Given the description of an element on the screen output the (x, y) to click on. 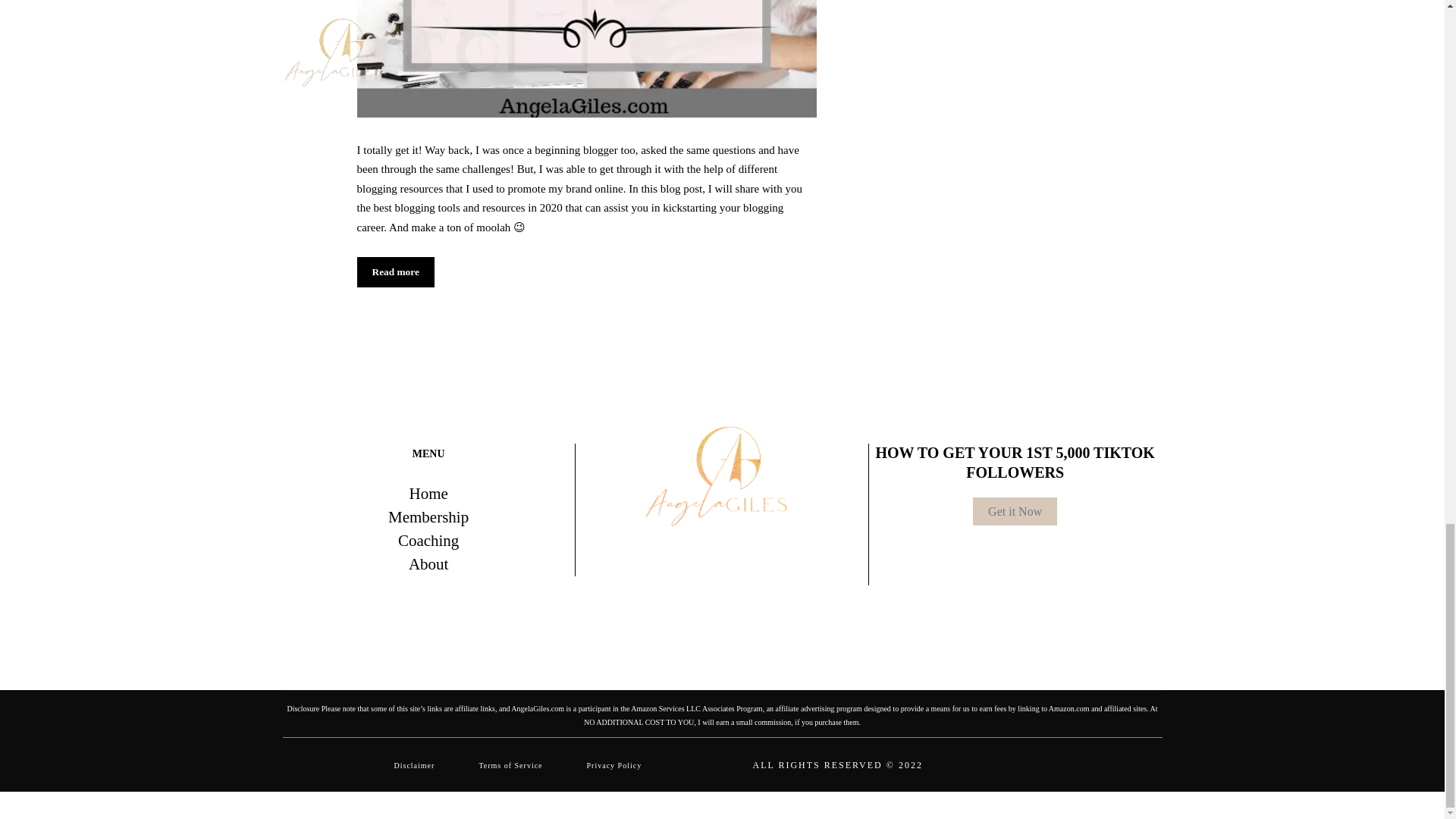
Read more (394, 272)
About (427, 564)
Membership (427, 517)
Coaching (427, 540)
Home (427, 494)
